Given the description of an element on the screen output the (x, y) to click on. 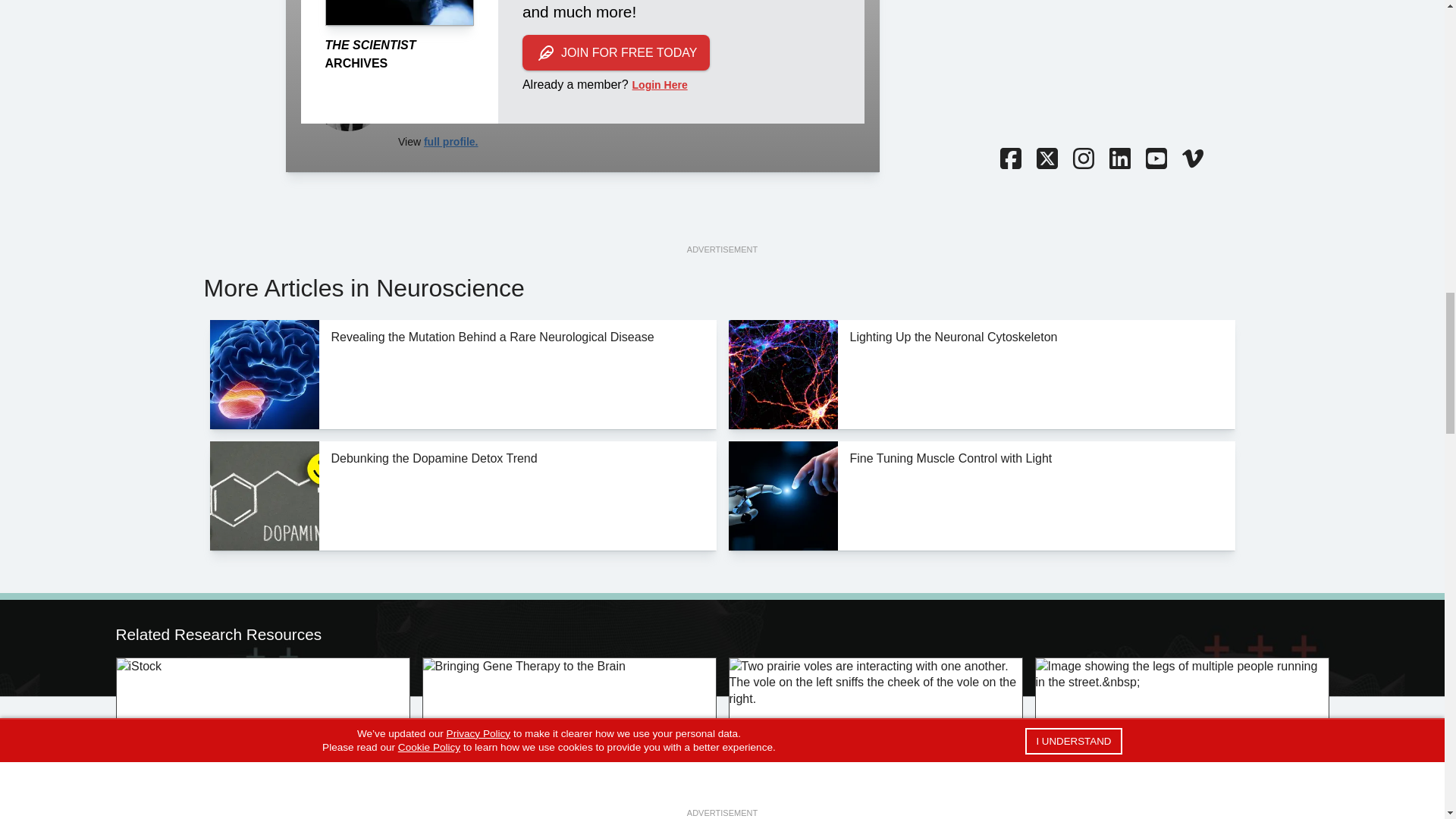
Instagram (1082, 159)
Amanda Heidt (347, 93)
Facebook (1009, 159)
LinkedIn (1118, 159)
Twitter (1045, 159)
